Given the description of an element on the screen output the (x, y) to click on. 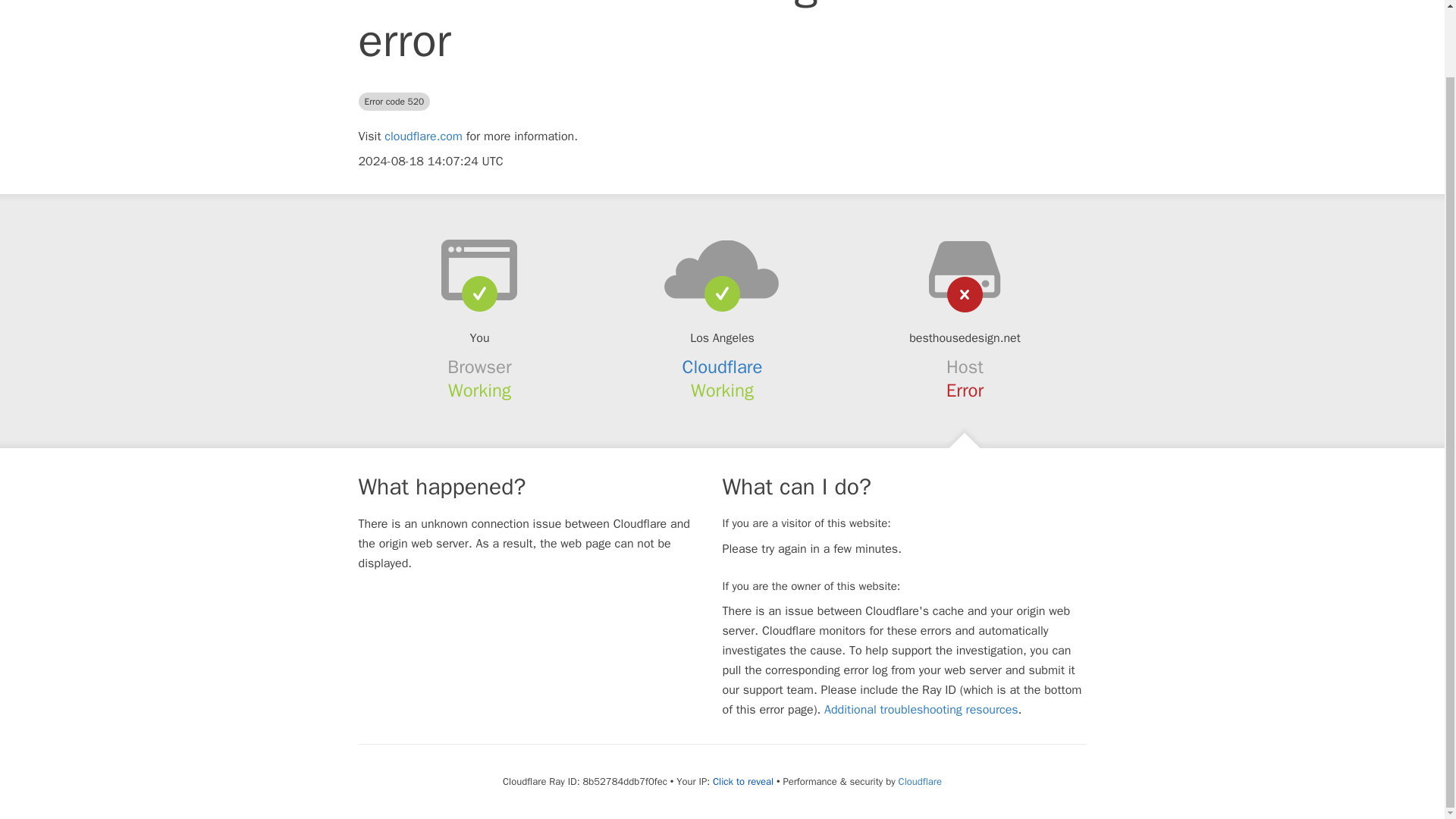
Additional troubleshooting resources (920, 709)
Cloudflare (920, 780)
cloudflare.com (423, 136)
Click to reveal (743, 781)
Cloudflare (722, 366)
